Given the description of an element on the screen output the (x, y) to click on. 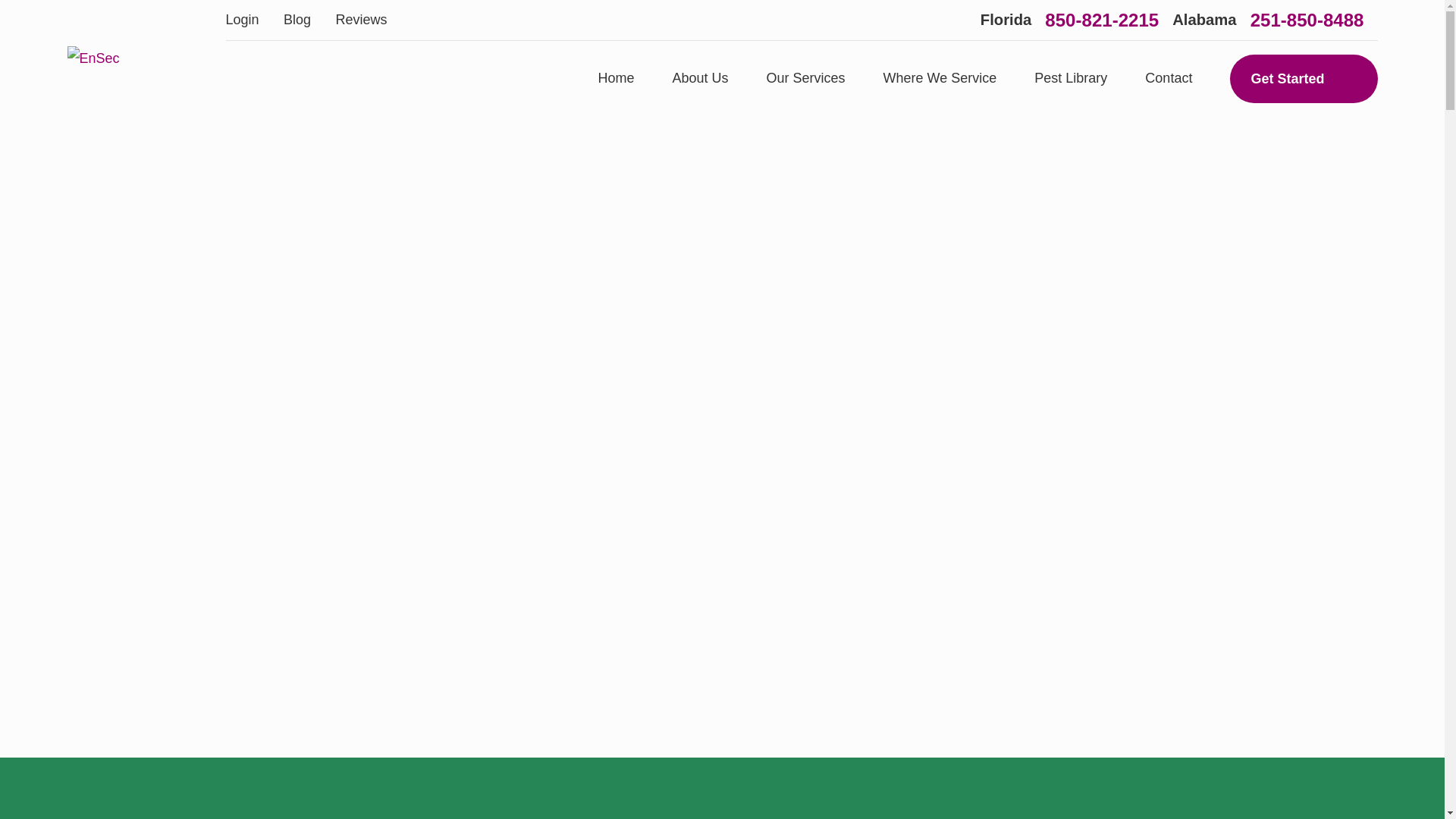
EnSec (92, 57)
850-821-2215 (1101, 19)
About Us (700, 78)
Our Services (806, 78)
Pest Library (1069, 78)
Reviews (360, 19)
Login (242, 19)
Where We Service (940, 78)
Home (92, 58)
251-850-8488 (1307, 19)
Contact (1168, 78)
Blog (297, 19)
